Given the description of an element on the screen output the (x, y) to click on. 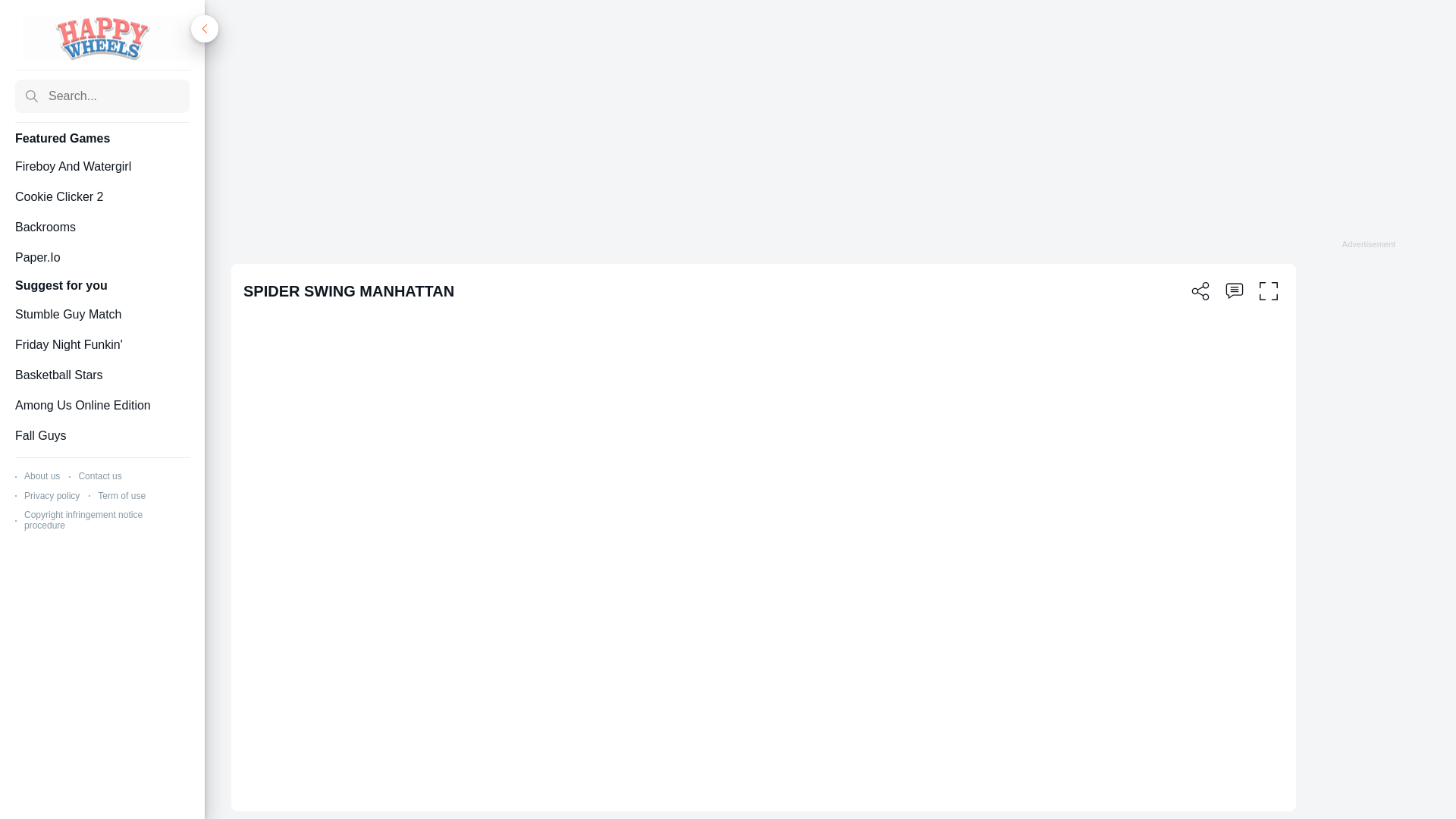
Fall Guys (101, 435)
Basketball Stars (101, 375)
Cookie Clicker 2 (101, 197)
Stumble Guy Match (101, 314)
Among Us Online Edition (101, 405)
Term of use (121, 495)
Paper.Io (101, 257)
Contact us (99, 475)
Backrooms (101, 227)
Copyright infringement notice procedure (83, 519)
Fireboy And Watergirl (101, 167)
About us (41, 475)
Friday Night Funkin' (101, 344)
Privacy policy (52, 495)
